Given the description of an element on the screen output the (x, y) to click on. 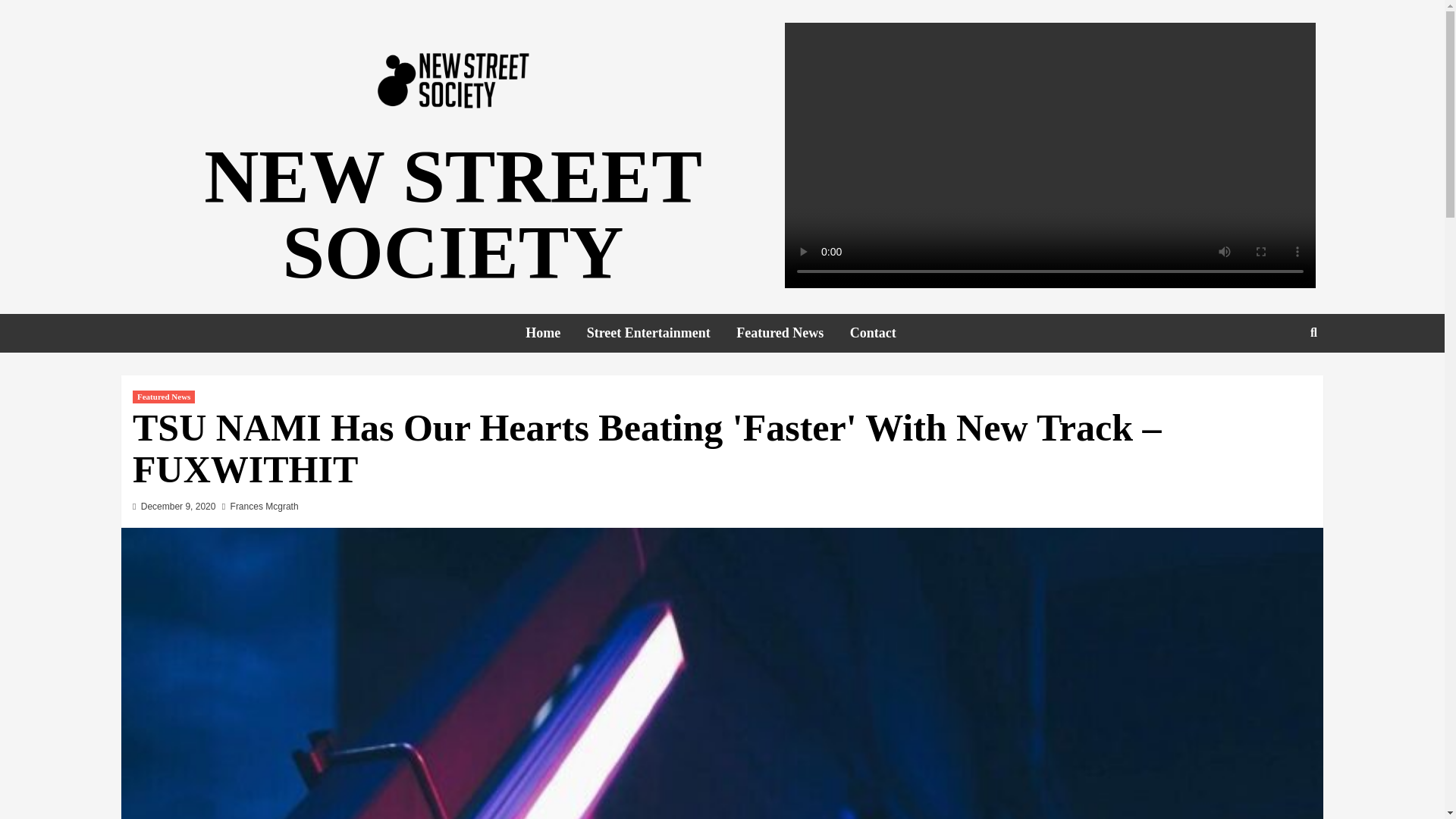
Search (1278, 380)
Home (554, 332)
NEW STREET SOCIETY (452, 214)
Frances Mcgrath (264, 506)
Featured News (790, 332)
December 9, 2020 (178, 506)
Street Entertainment (659, 332)
Contact (884, 332)
Featured News (163, 396)
